Given the description of an element on the screen output the (x, y) to click on. 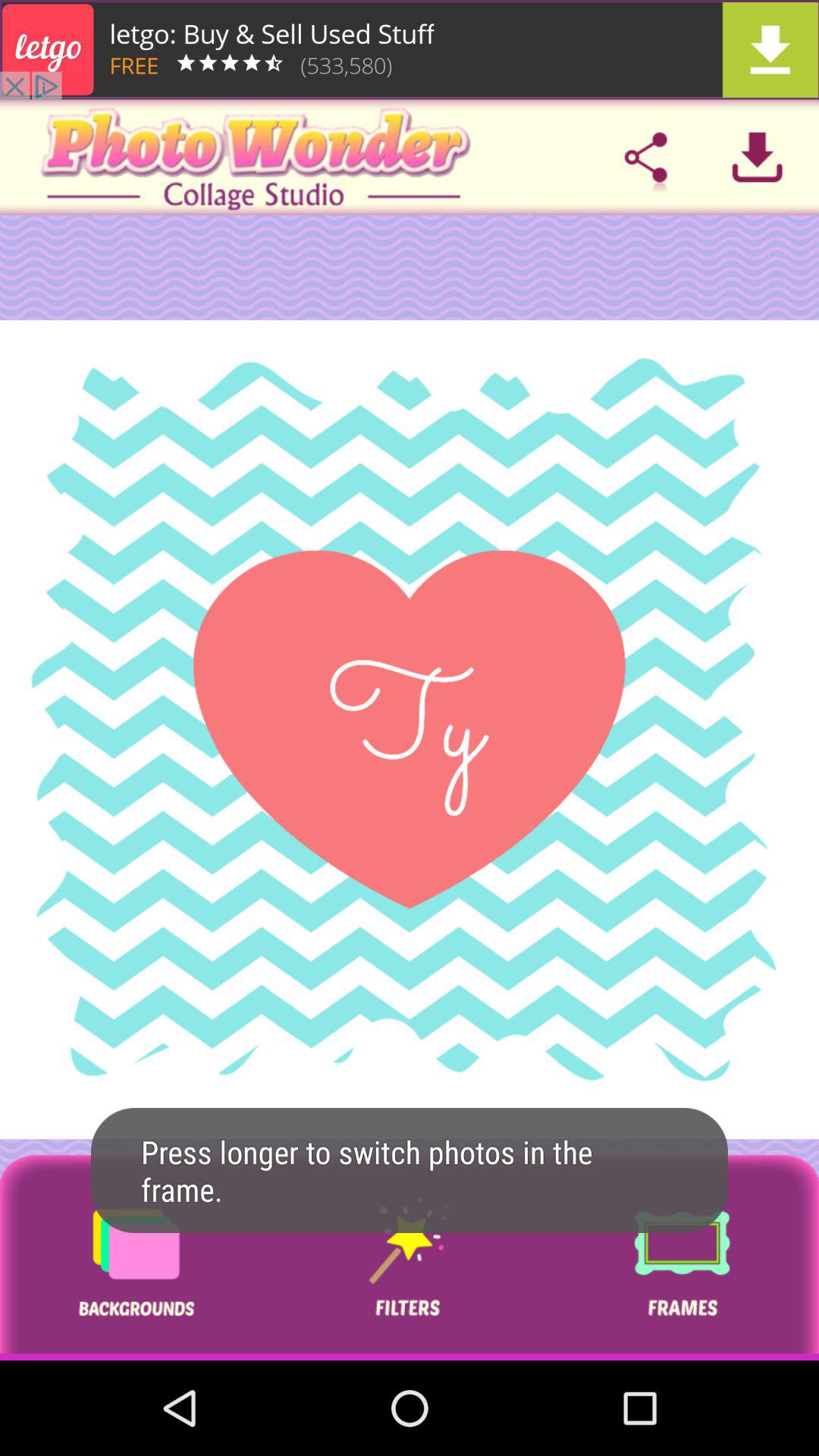
add filters to image (408, 1257)
